Given the description of an element on the screen output the (x, y) to click on. 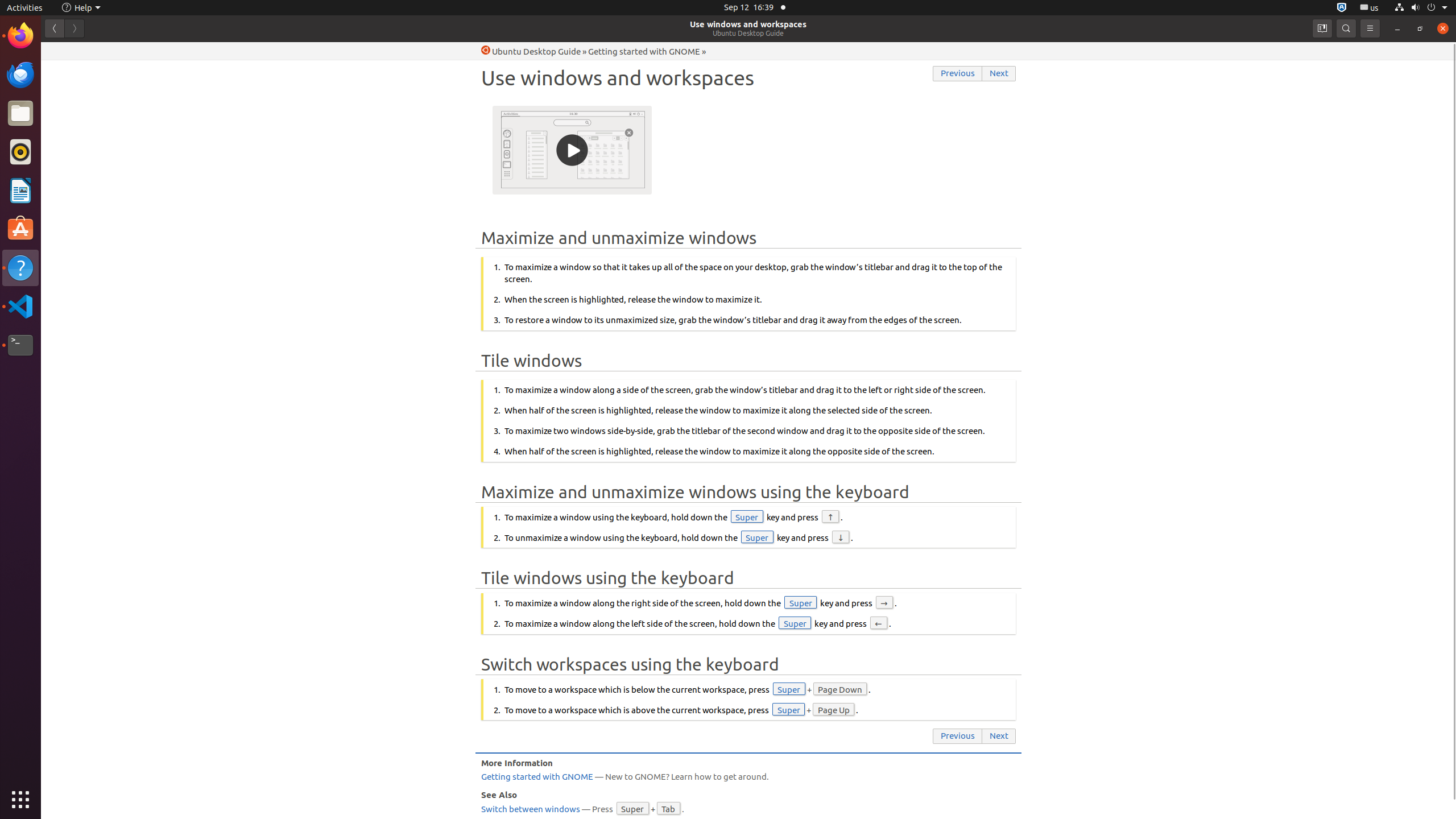
Ubuntu Desktop Guide Element type: label (748, 33)
Getting started with GNOME Element type: link (644, 51)
IsaHelpMain.desktop Element type: label (75, 170)
Firefox Web Browser Element type: push-button (20, 35)
